Given the description of an element on the screen output the (x, y) to click on. 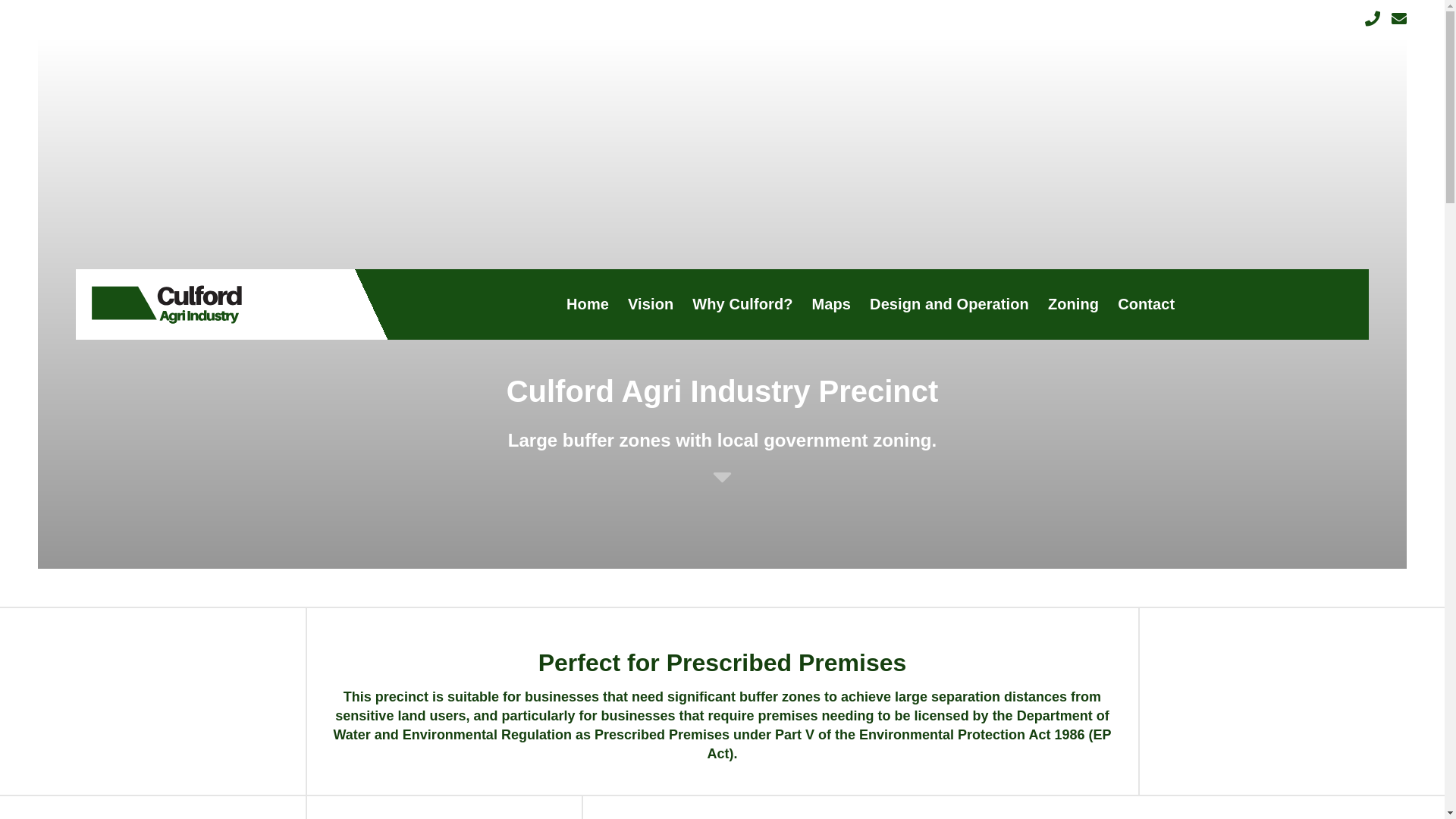
Vision Element type: text (650, 304)
Design and Operation Element type: text (949, 304)
Culford logo Element type: hover (166, 304)
Zoning Element type: text (1072, 304)
Home Element type: text (587, 304)
Maps Element type: text (831, 304)
Contact Element type: text (1145, 304)
Why Culford? Element type: text (742, 304)
